Given the description of an element on the screen output the (x, y) to click on. 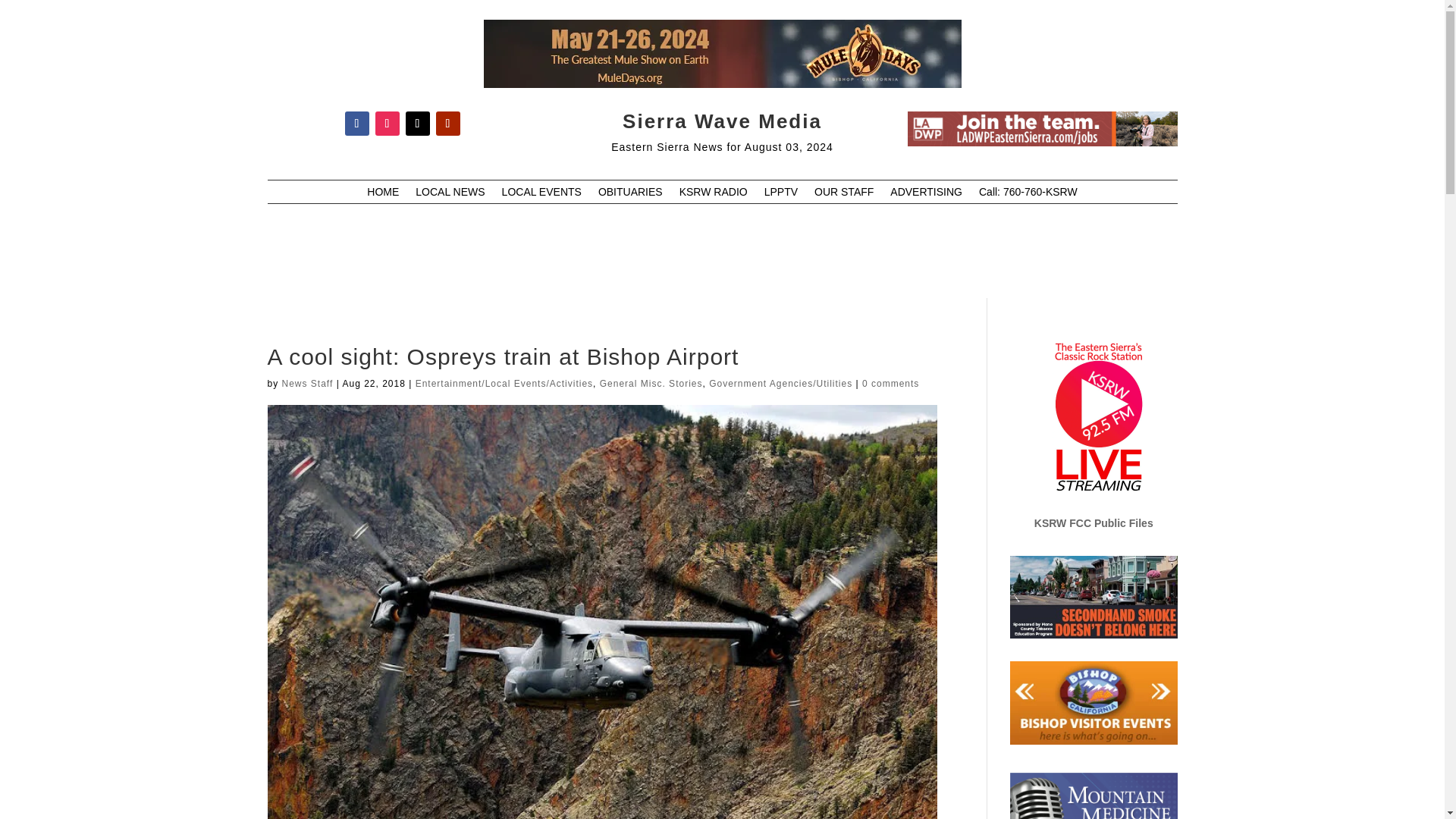
News Staff (307, 383)
Call: 760-760-KSRW (1027, 194)
dec (1041, 128)
General Misc. Stories (651, 383)
ADVERTISING (925, 194)
Follow on X (416, 123)
Advertising (925, 194)
KSRW FCC Public Files (1093, 522)
LPPTV (780, 194)
Home (382, 194)
LOCAL EVENTS (541, 194)
Follow on Youtube (447, 123)
KSRW RADIO (713, 194)
OUR STAFF (843, 194)
OBITUARIES (630, 194)
